Given the description of an element on the screen output the (x, y) to click on. 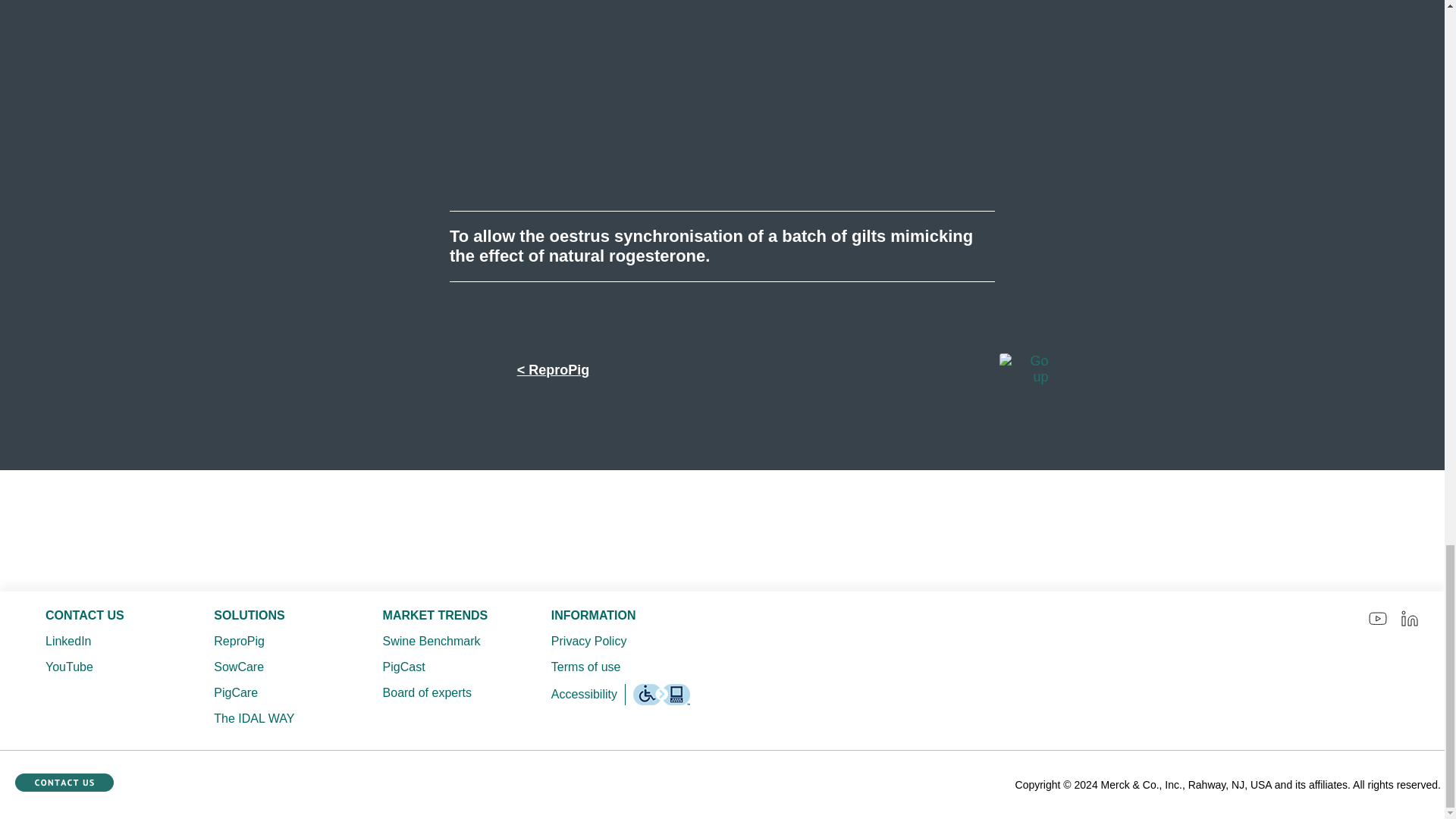
YouTube (99, 667)
LinkedIn (99, 641)
